Given the description of an element on the screen output the (x, y) to click on. 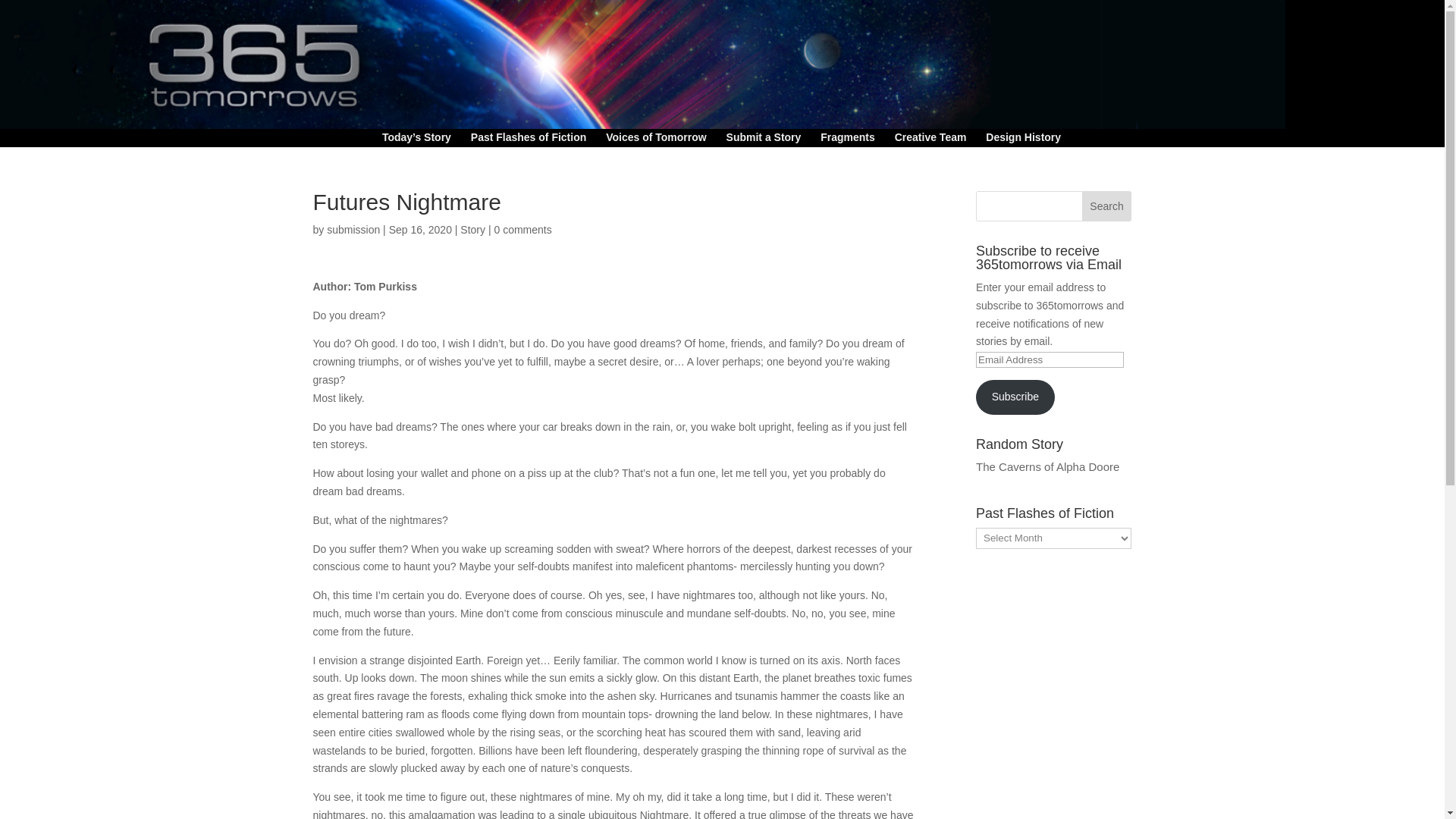
Subscribe (1014, 397)
Fragments (848, 139)
Search (1106, 205)
Search (1106, 205)
submission (353, 229)
Story (472, 229)
Submit a Story (764, 139)
Design History (1023, 139)
Past Flashes of Fiction (528, 139)
Posts by submission (353, 229)
